Given the description of an element on the screen output the (x, y) to click on. 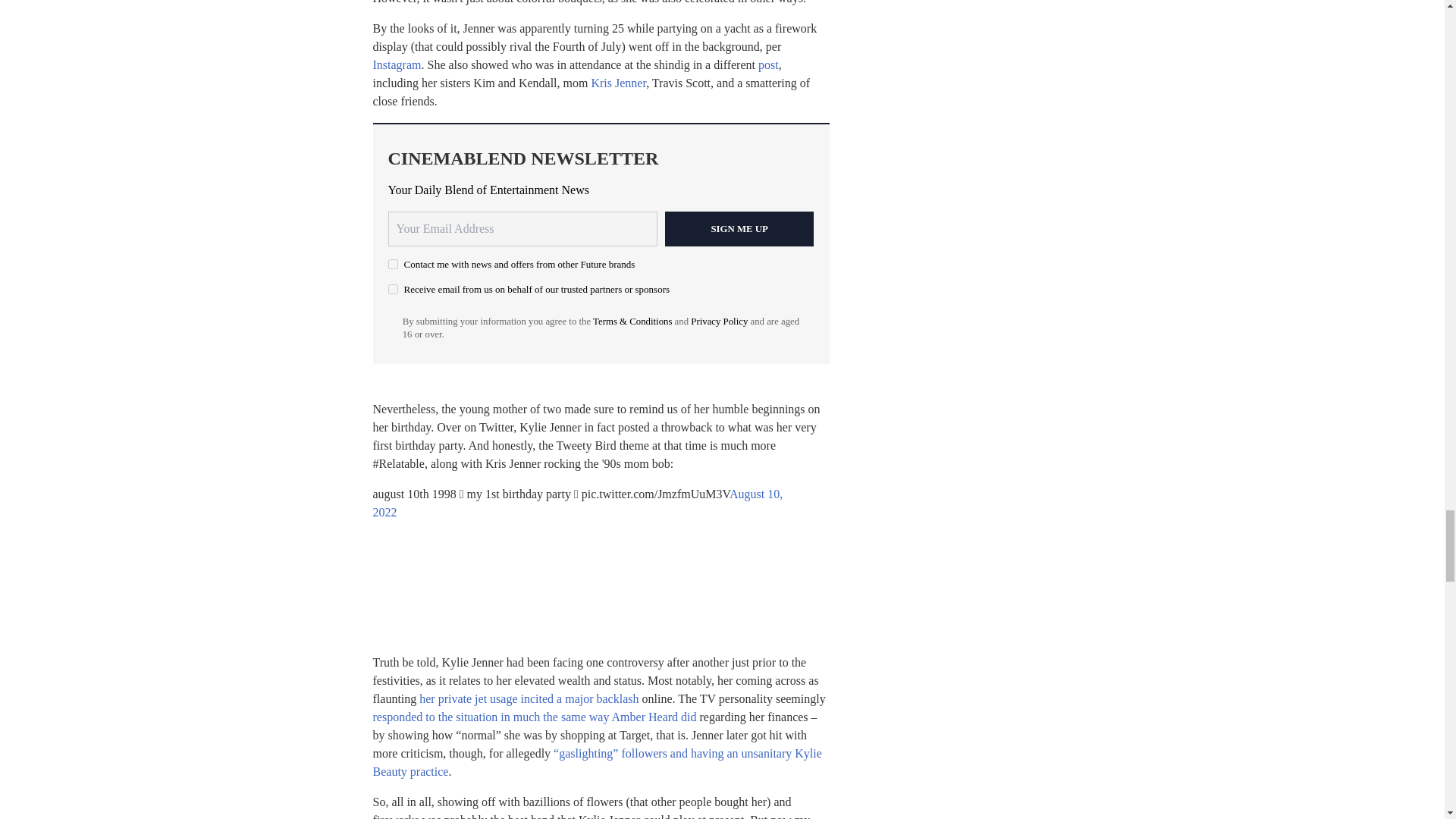
on (392, 264)
on (392, 289)
Sign me up (739, 228)
